Given the description of an element on the screen output the (x, y) to click on. 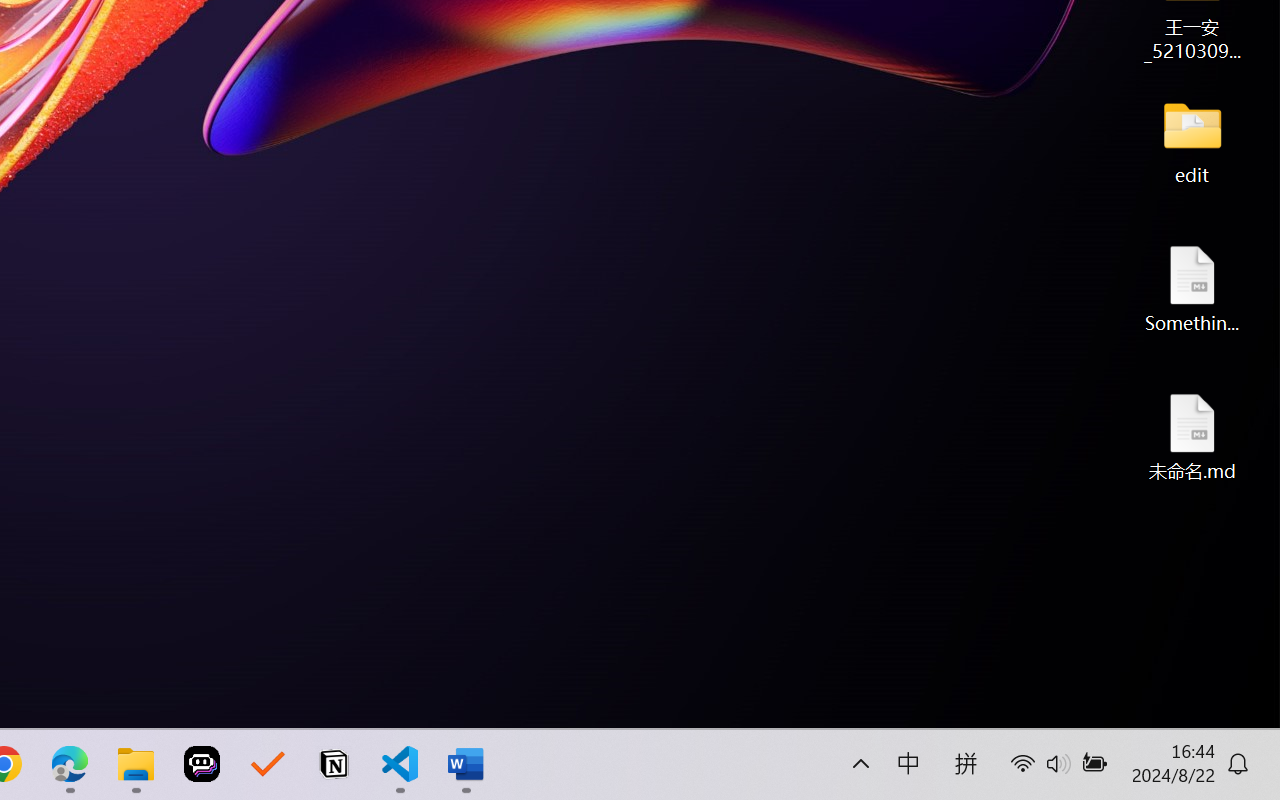
edit (1192, 140)
